Given the description of an element on the screen output the (x, y) to click on. 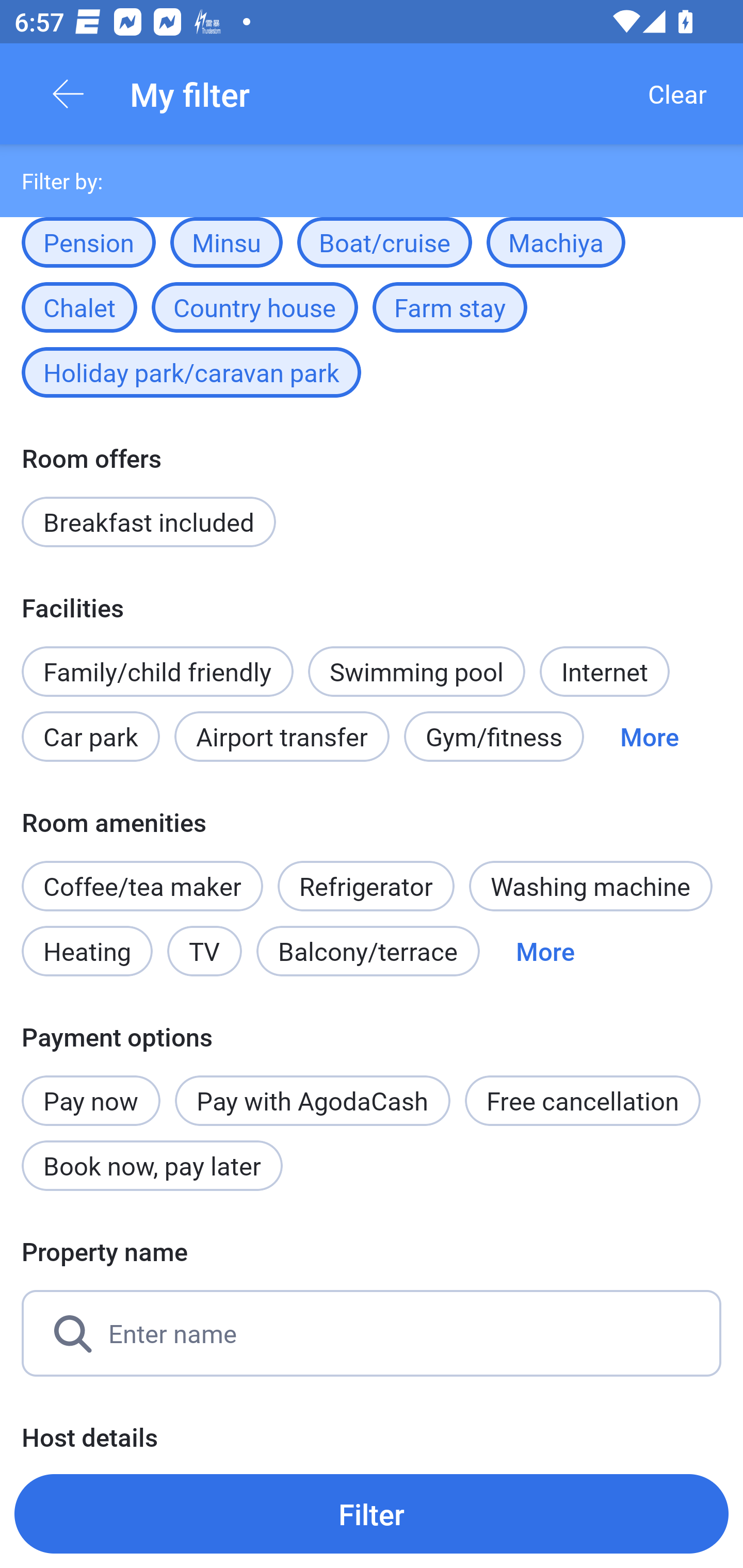
Clear (676, 93)
Breakfast included (148, 522)
Family/child friendly (157, 671)
Swimming pool (416, 671)
Internet (604, 671)
Car park (90, 736)
Airport transfer (281, 736)
Gym/fitness (493, 736)
More (649, 736)
Coffee/tea maker (142, 886)
Refrigerator (365, 875)
Washing machine (590, 886)
Heating (87, 950)
TV (204, 950)
Balcony/terrace (367, 950)
More (545, 950)
Pay now (90, 1089)
Pay with AgodaCash (312, 1100)
Free cancellation (582, 1100)
Book now, pay later (152, 1165)
Enter name (371, 1333)
Filter (371, 1513)
